Given the description of an element on the screen output the (x, y) to click on. 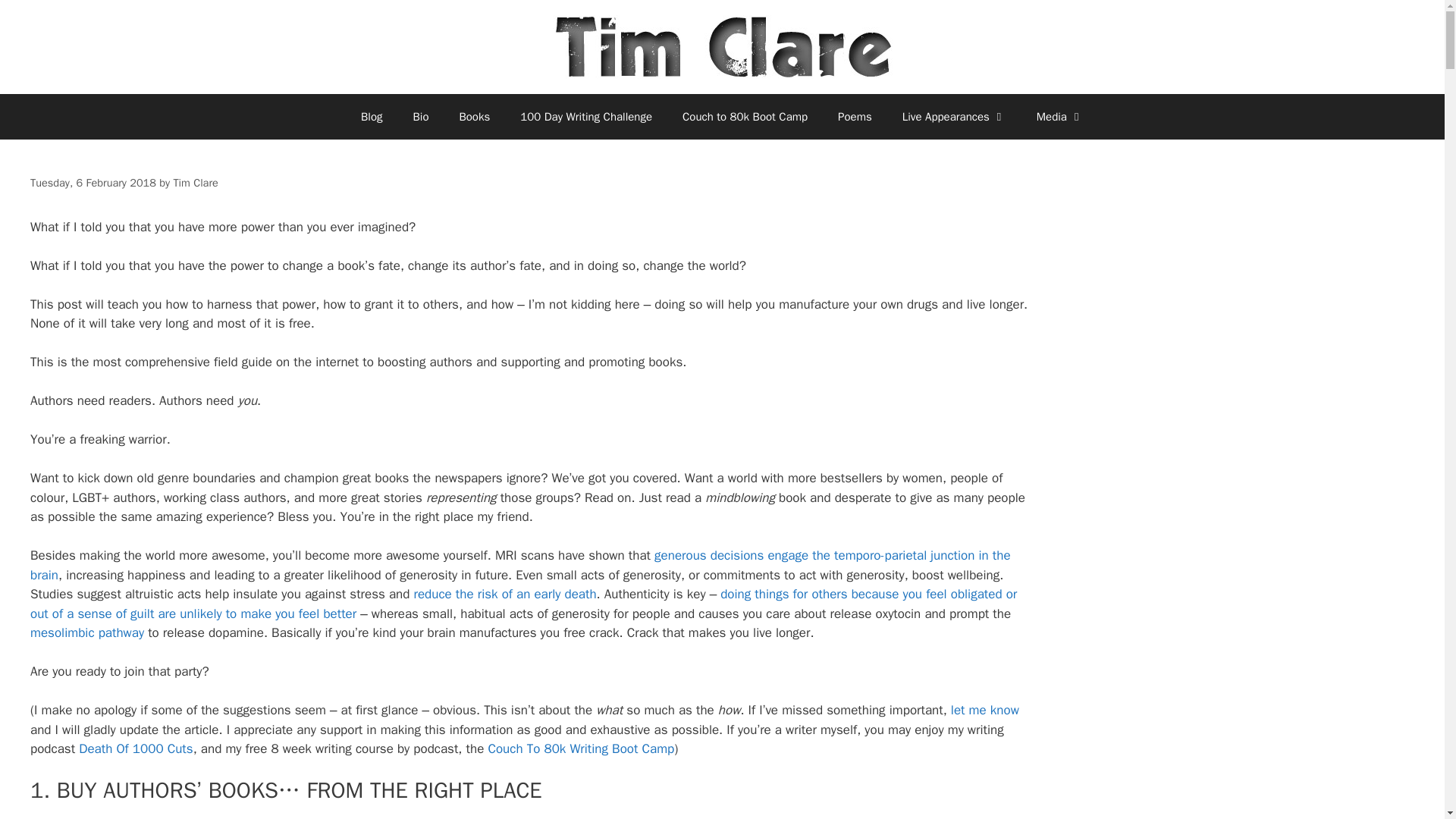
reduce the risk of an early death (504, 593)
Media (1060, 116)
Blog (371, 116)
100 Day Writing Challenge (585, 116)
Death Of 1000 Cuts (135, 748)
Books (474, 116)
Couch to 80k Boot Camp (744, 116)
View all posts by Tim Clare (194, 182)
Couch To 80k Writing Boot Camp (580, 748)
